Given the description of an element on the screen output the (x, y) to click on. 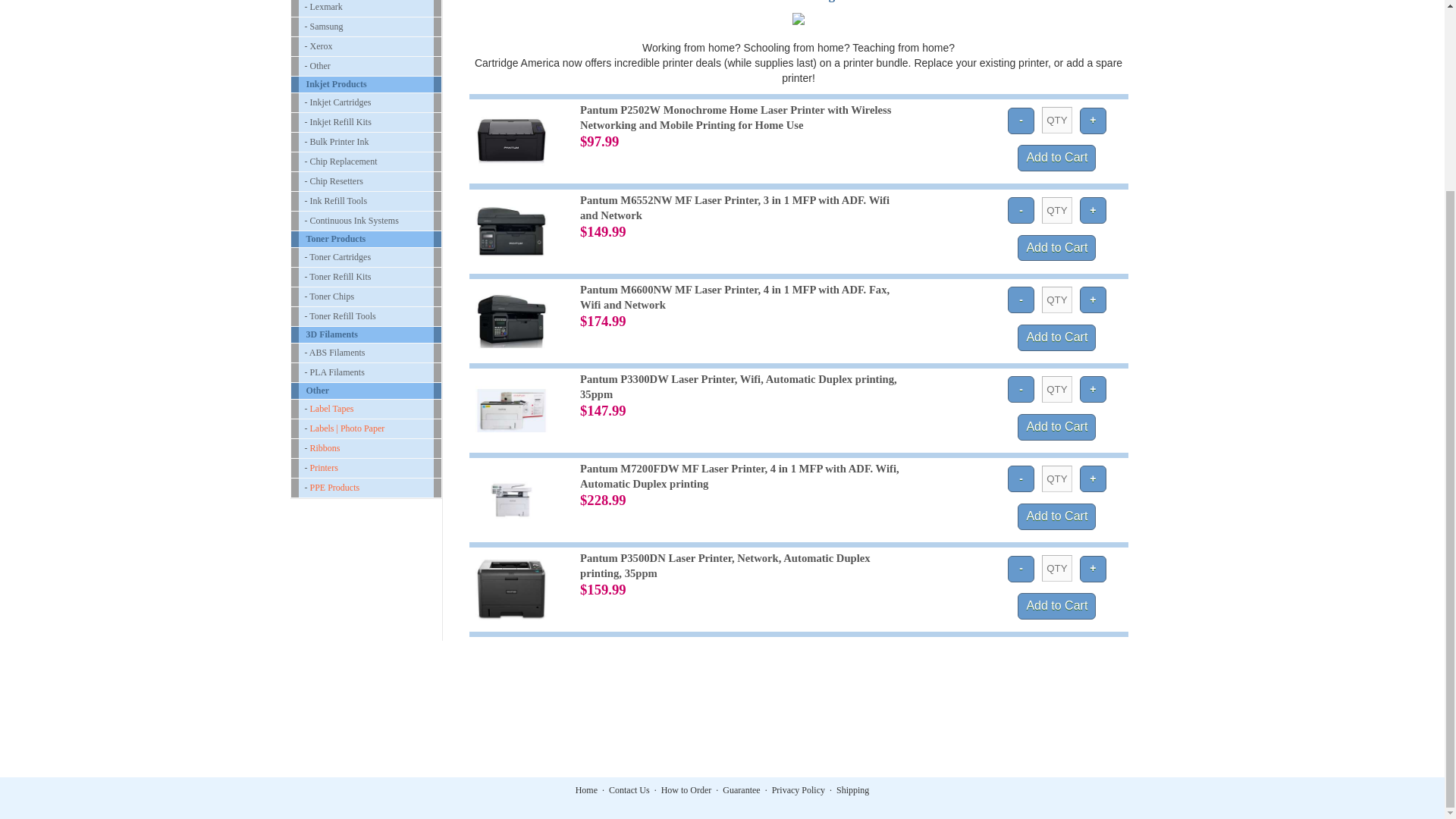
- Label Tapes (366, 408)
- Chip Resetters (366, 180)
Add to Cart (1056, 337)
- (1020, 299)
- Toner Refill Tools (366, 316)
- Bulk Printer Ink (366, 141)
- Xerox (366, 46)
- Inkjet Cartridges (366, 102)
- (1020, 210)
- Ink Refill Tools (366, 200)
- ABS Filaments (366, 352)
- PPE Products (366, 487)
